Given the description of an element on the screen output the (x, y) to click on. 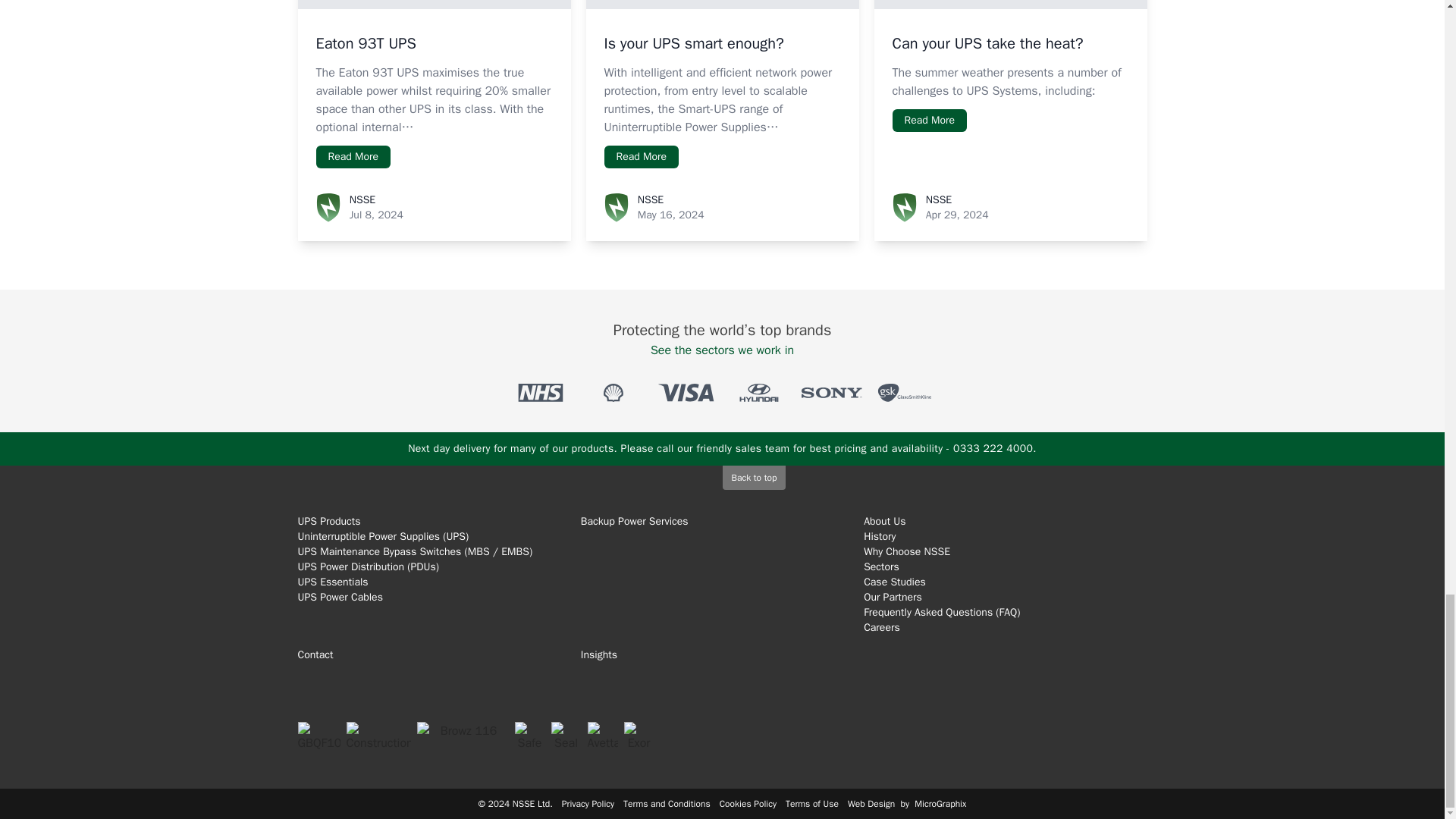
Terms of Use (812, 803)
Privacy Policy (588, 803)
Terms and Conditions (666, 803)
Contact (438, 654)
Sectors (881, 566)
History (879, 535)
UPS Products (328, 521)
About Us (884, 521)
Our Partners (892, 596)
Case Studies (894, 581)
